Given the description of an element on the screen output the (x, y) to click on. 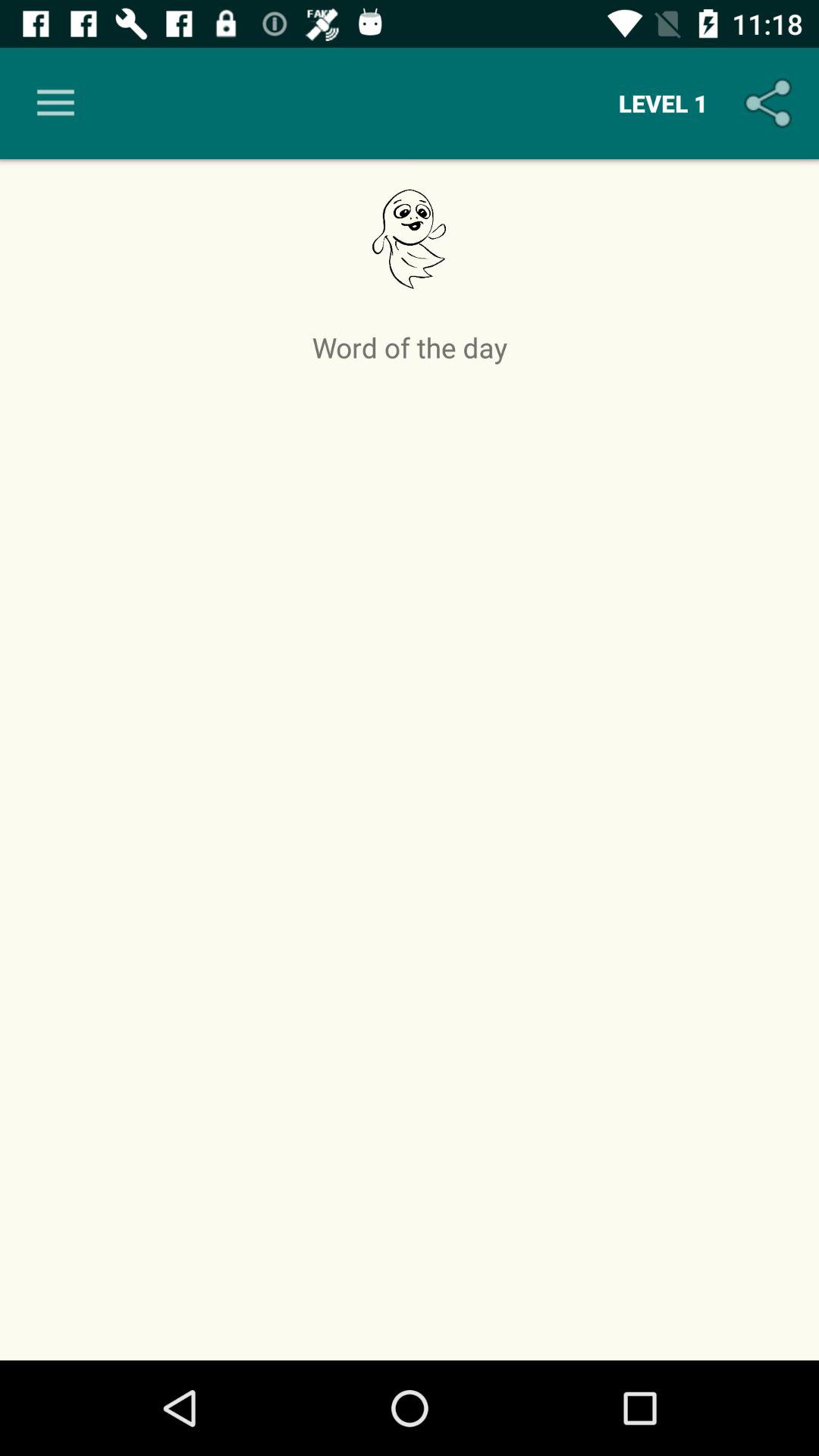
turn on the icon next to the level 1 (771, 103)
